Given the description of an element on the screen output the (x, y) to click on. 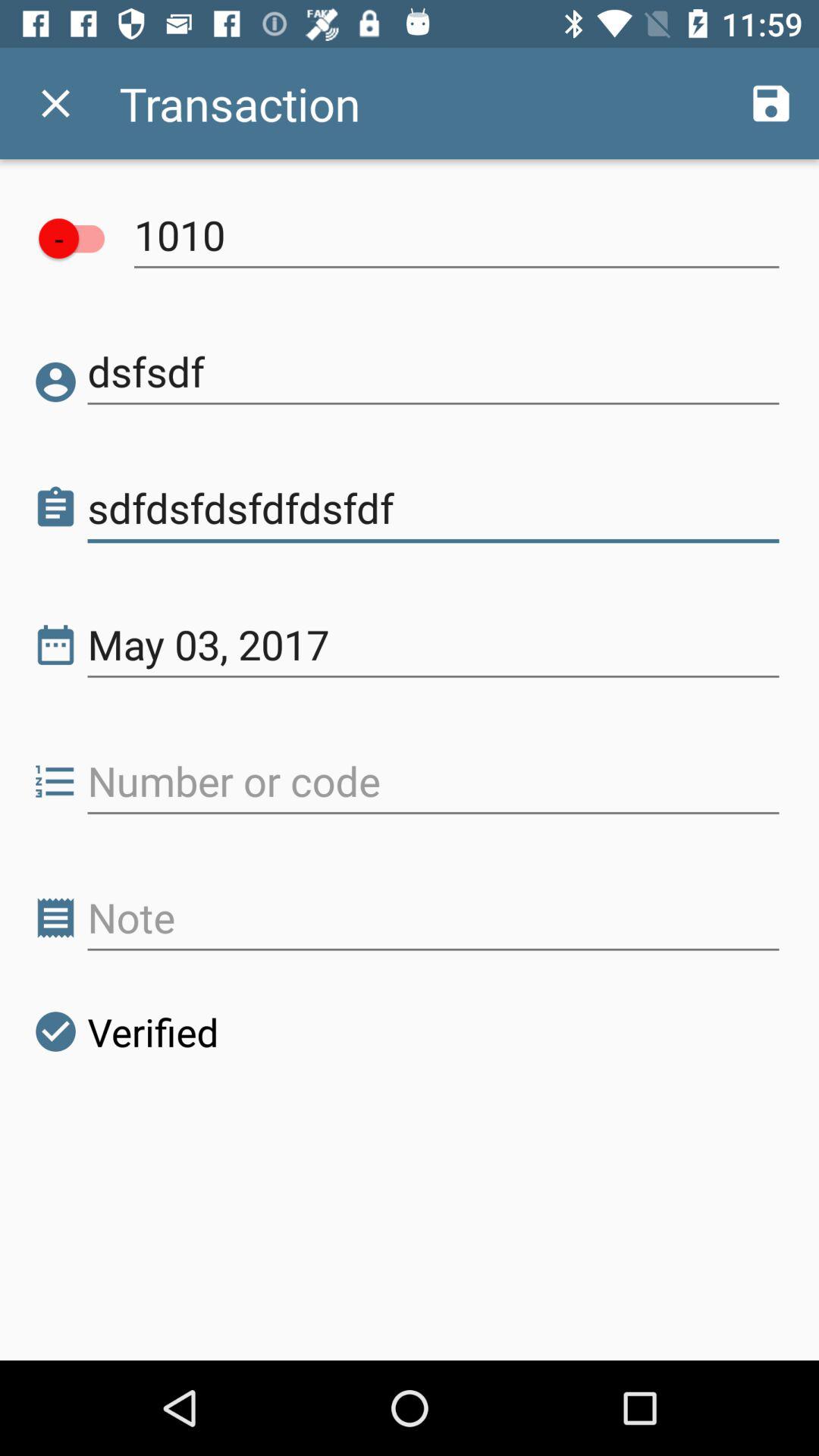
scroll until the verified icon (124, 1031)
